Given the description of an element on the screen output the (x, y) to click on. 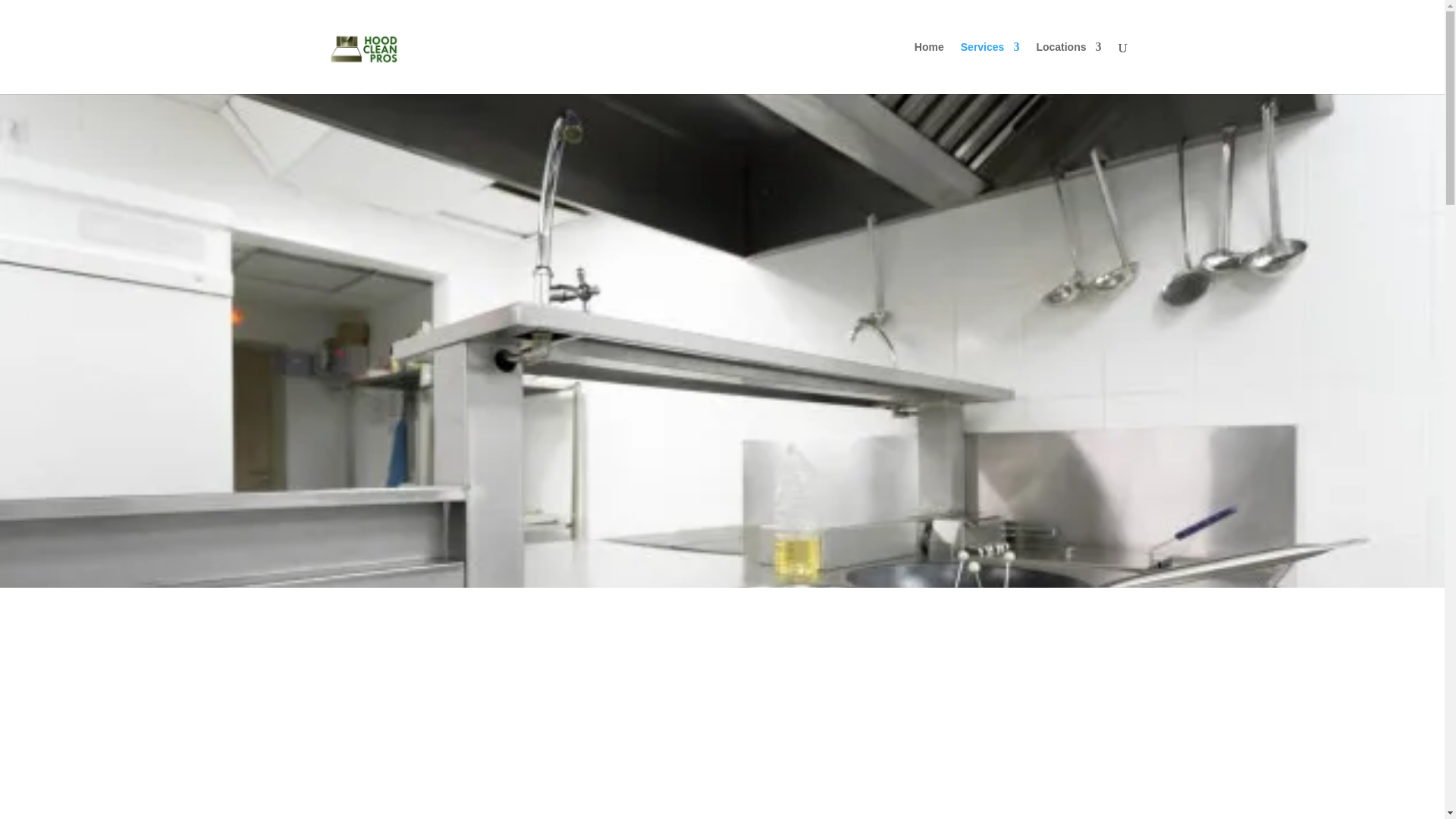
Services (990, 67)
Locations (1067, 67)
